Given the description of an element on the screen output the (x, y) to click on. 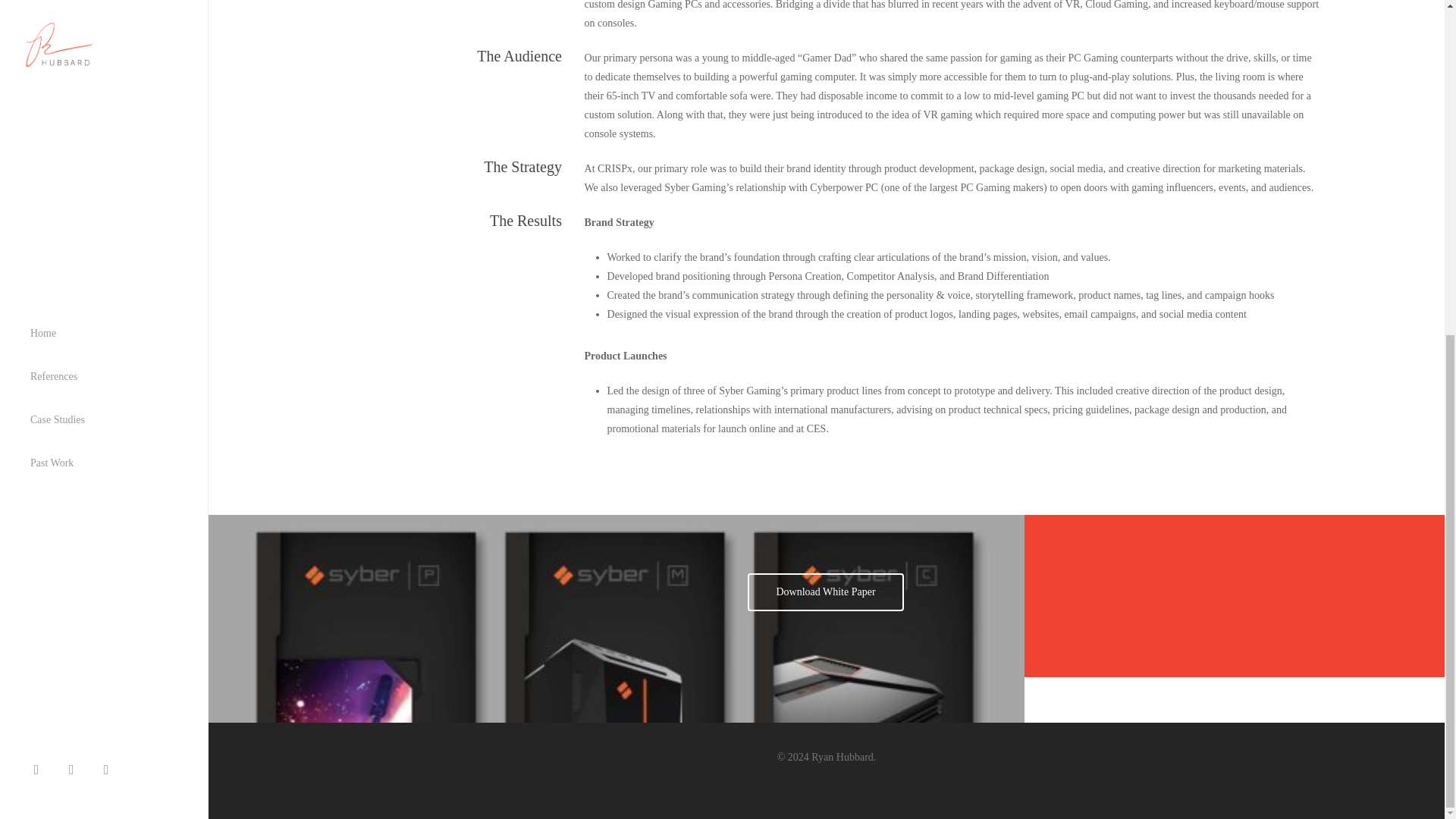
Download White Paper (825, 591)
behance (110, 207)
dribbble (75, 207)
linkedin (40, 207)
